Given the description of an element on the screen output the (x, y) to click on. 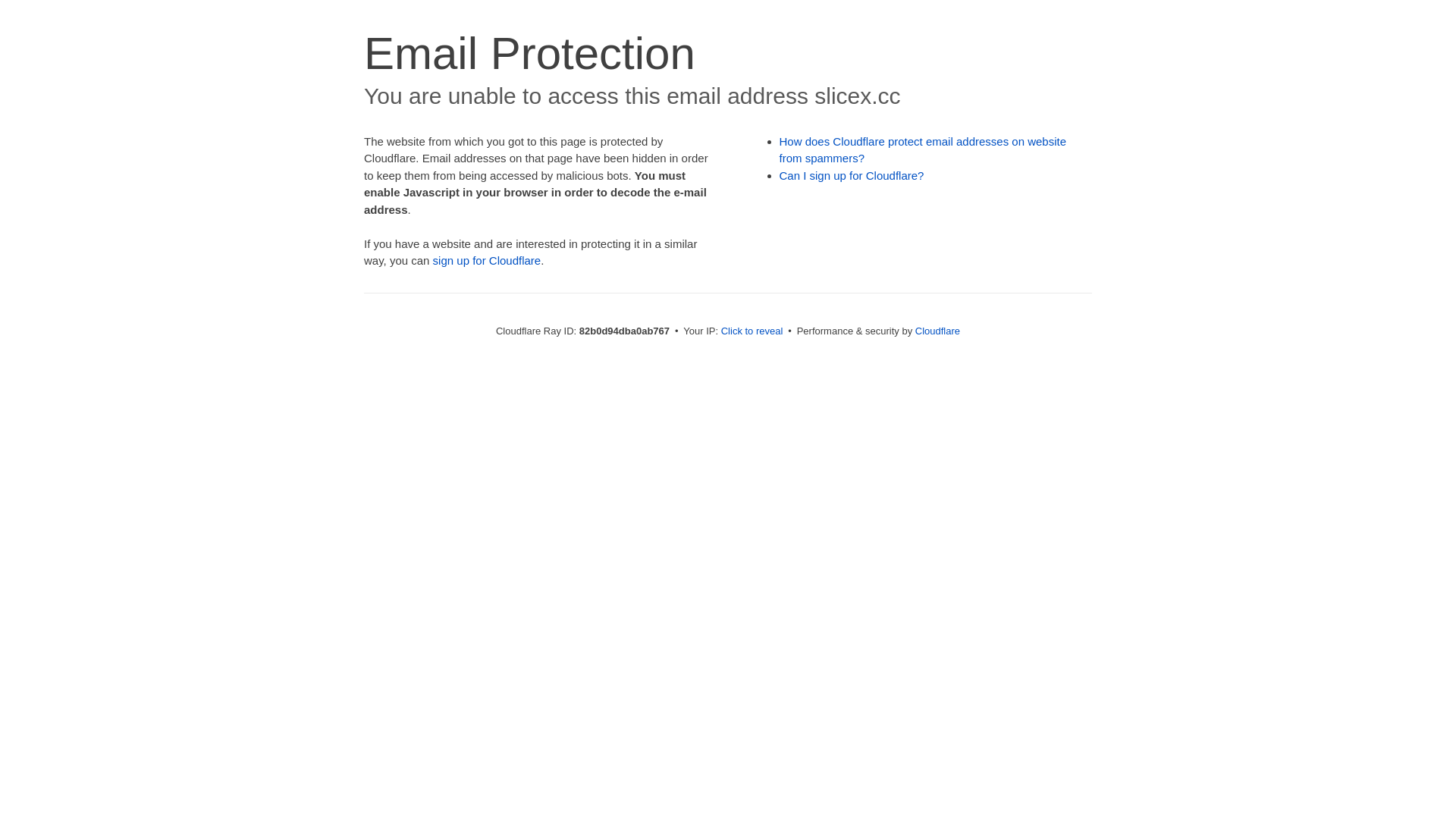
Cloudflare Element type: text (937, 330)
Can I sign up for Cloudflare? Element type: text (851, 175)
sign up for Cloudflare Element type: text (487, 260)
Click to reveal Element type: text (752, 330)
